Given the description of an element on the screen output the (x, y) to click on. 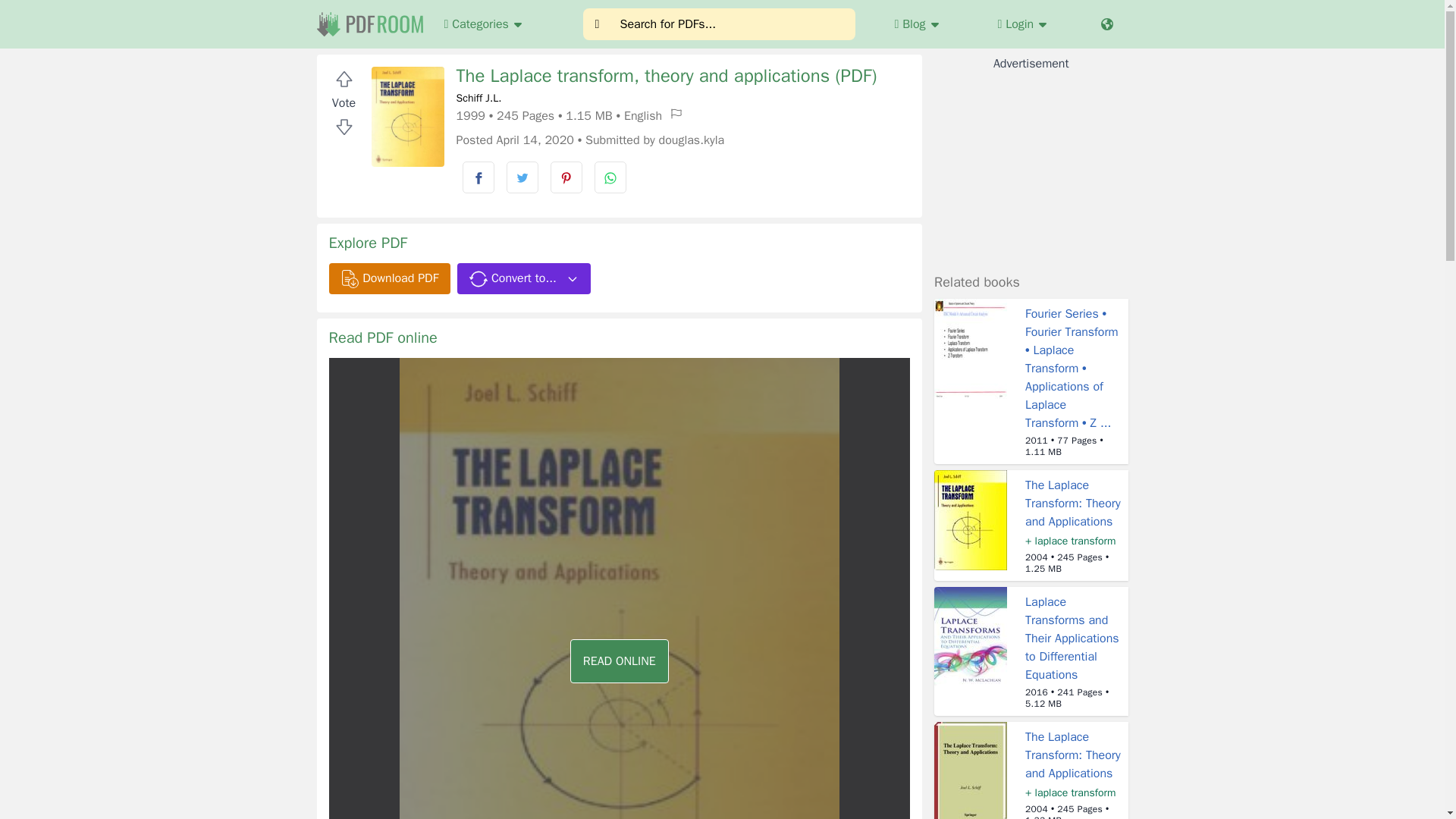
Report (676, 113)
The Laplace Transform: Theory and Applications (1073, 755)
The Laplace Transform: Theory and Applications (1073, 503)
